Given the description of an element on the screen output the (x, y) to click on. 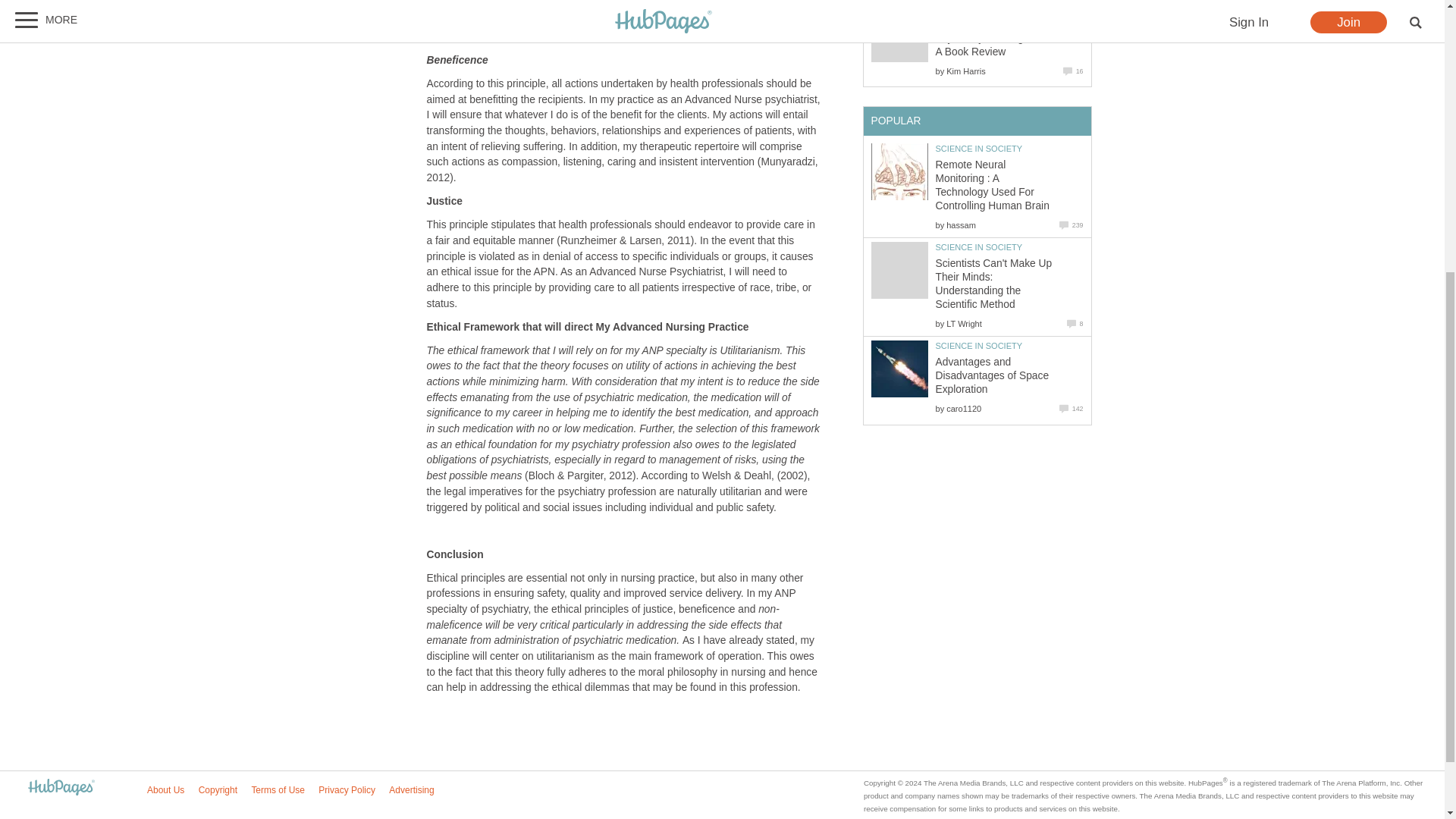
To the HubPages home page (60, 787)
Advantages and Disadvantages of Space Exploration (898, 368)
